Given the description of an element on the screen output the (x, y) to click on. 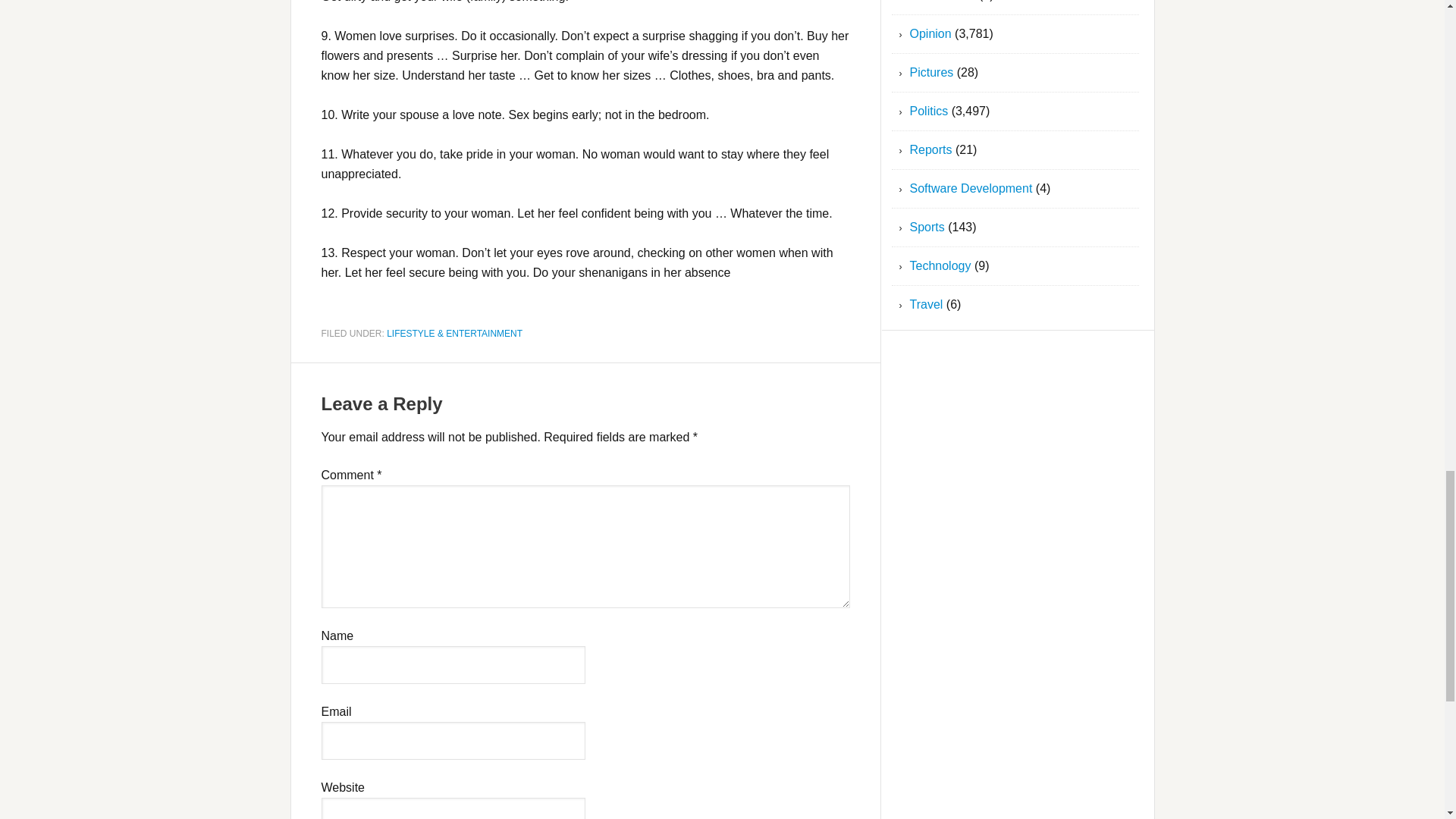
Politics (929, 110)
Opinion (931, 33)
Reports (931, 149)
Jackal news (942, 0)
Pictures (931, 72)
